Given the description of an element on the screen output the (x, y) to click on. 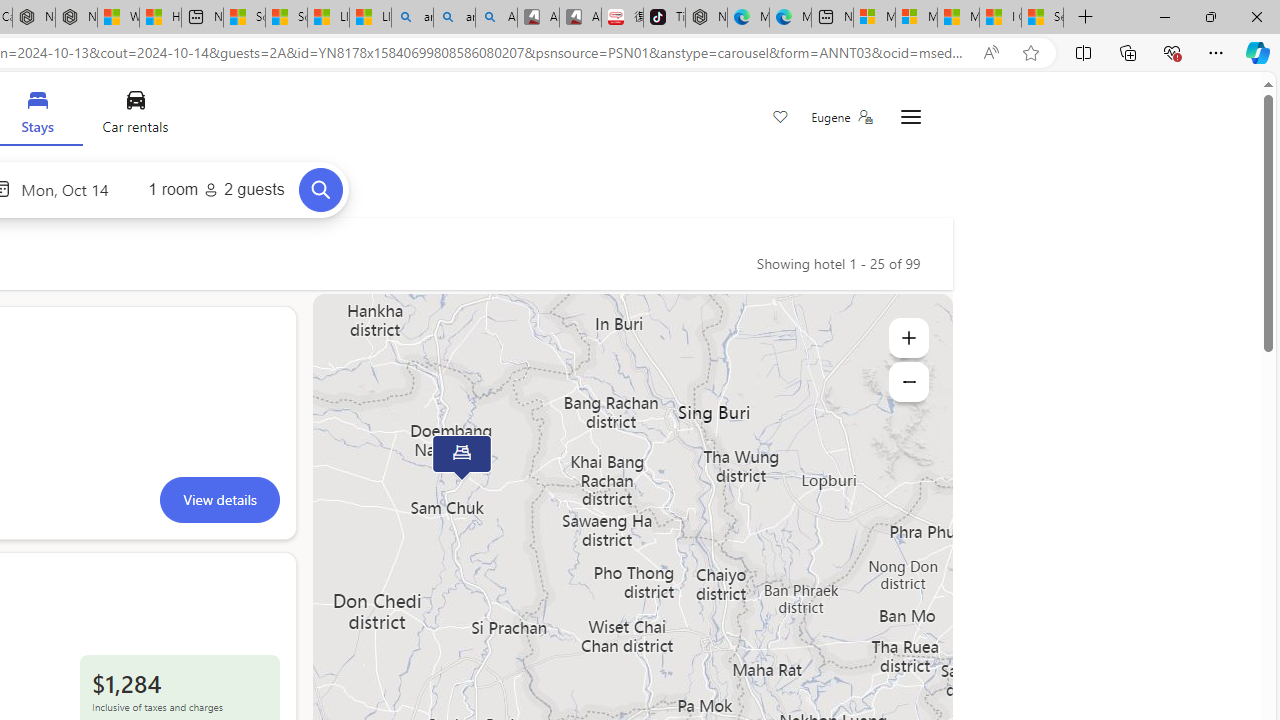
End date (70, 188)
TikTok (663, 17)
Nordace - Best Sellers (706, 17)
I Gained 20 Pounds of Muscle in 30 Days! | Watch (1000, 17)
Car rentals (134, 116)
1 room2 guests (216, 190)
All Cubot phones (580, 17)
Wildlife - MSN (118, 17)
New Tab (1085, 17)
Browser essentials (1171, 52)
Collections (1128, 52)
Read aloud this page (Ctrl+Shift+U) (991, 53)
amazon - Search (411, 17)
Search (320, 189)
